Given the description of an element on the screen output the (x, y) to click on. 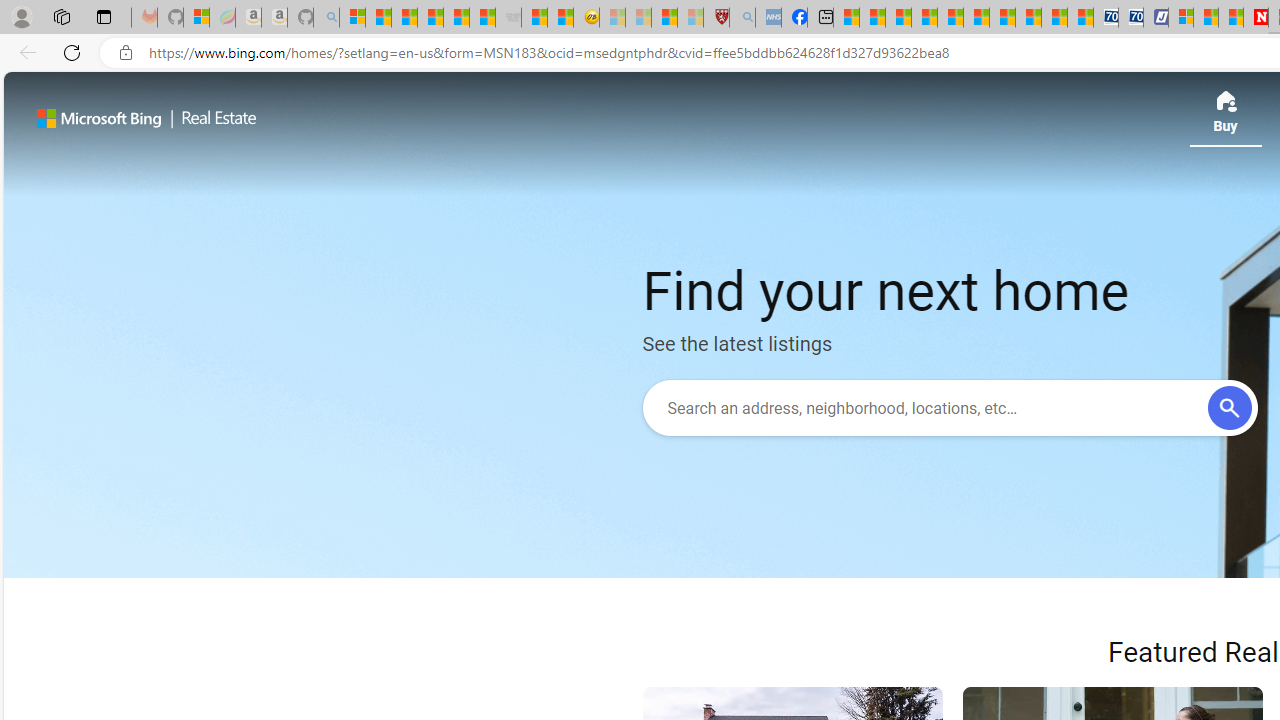
12 Popular Science Lies that Must be Corrected - Sleeping (690, 17)
Real Estate (214, 117)
Cheap Car Rentals - Save70.com (1105, 17)
